Given the description of an element on the screen output the (x, y) to click on. 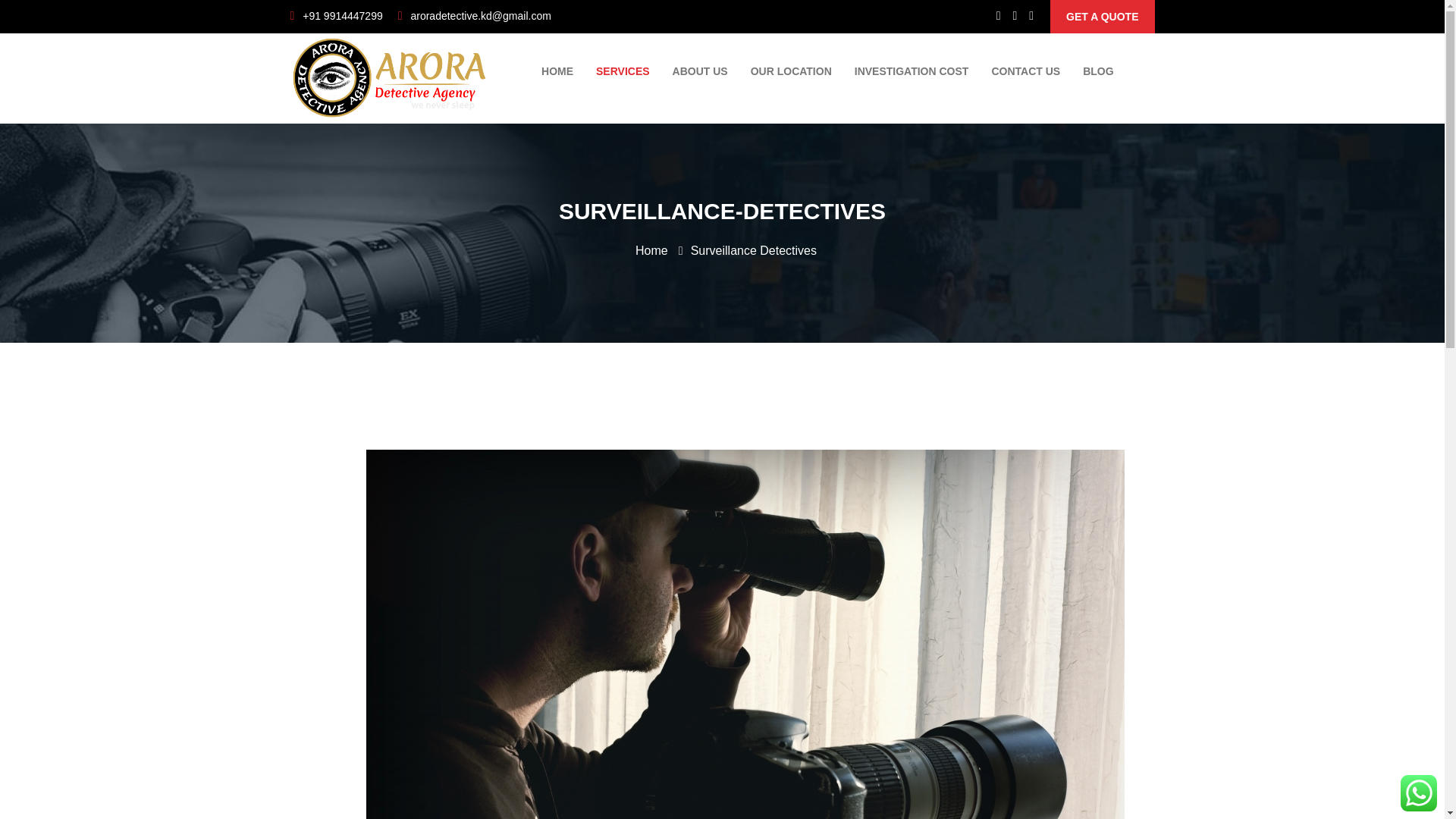
OUR LOCATION (791, 70)
Home (651, 250)
Our Location (791, 70)
Services (623, 70)
Investigation Cost (911, 70)
GET A QUOTE (1101, 16)
ABOUT US (700, 70)
SERVICES (623, 70)
INVESTIGATION COST (911, 70)
About Us (700, 70)
CONTACT US (1025, 70)
Contact Us (1025, 70)
